Given the description of an element on the screen output the (x, y) to click on. 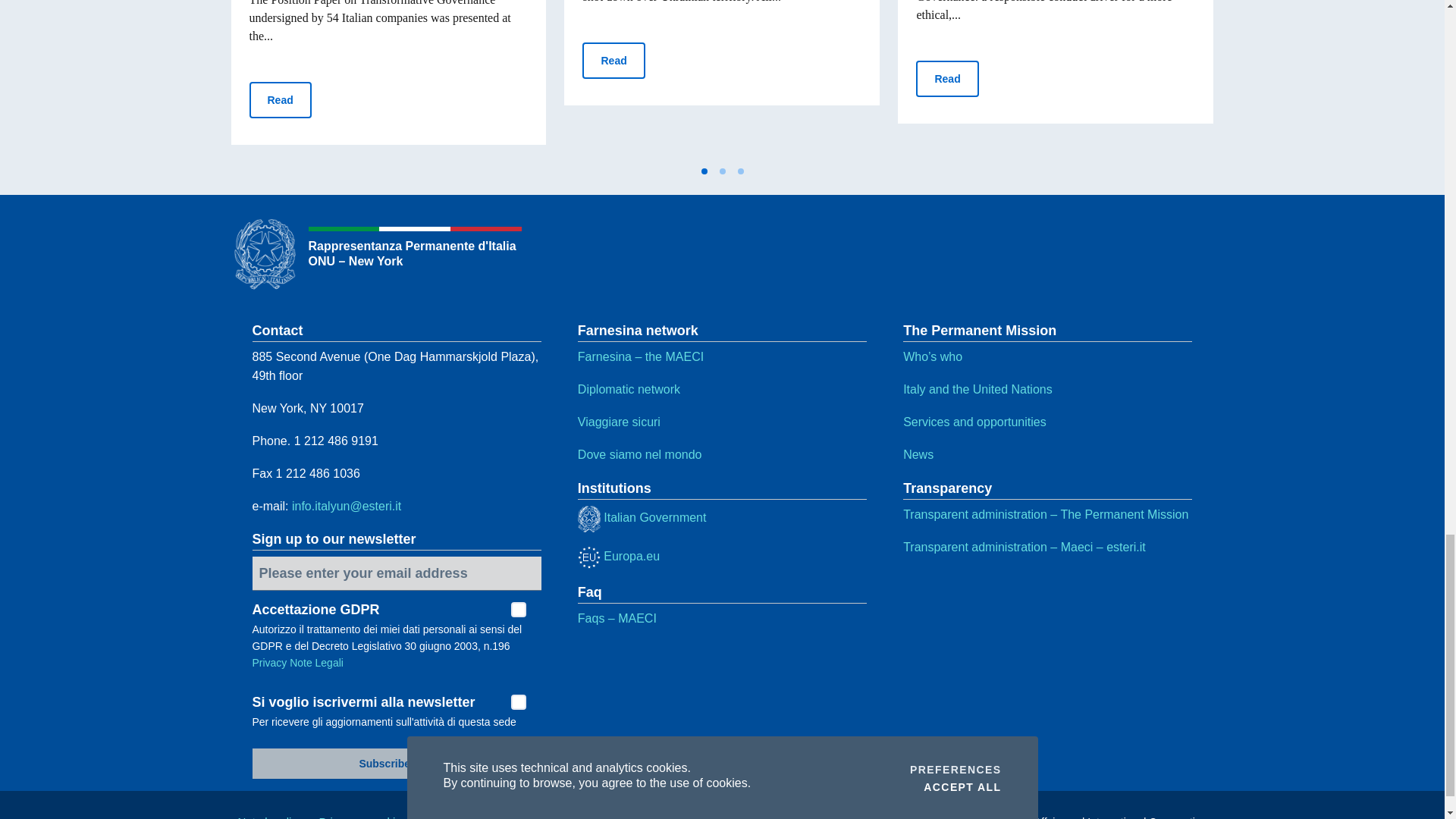
Subscribe now (395, 763)
